Given the description of an element on the screen output the (x, y) to click on. 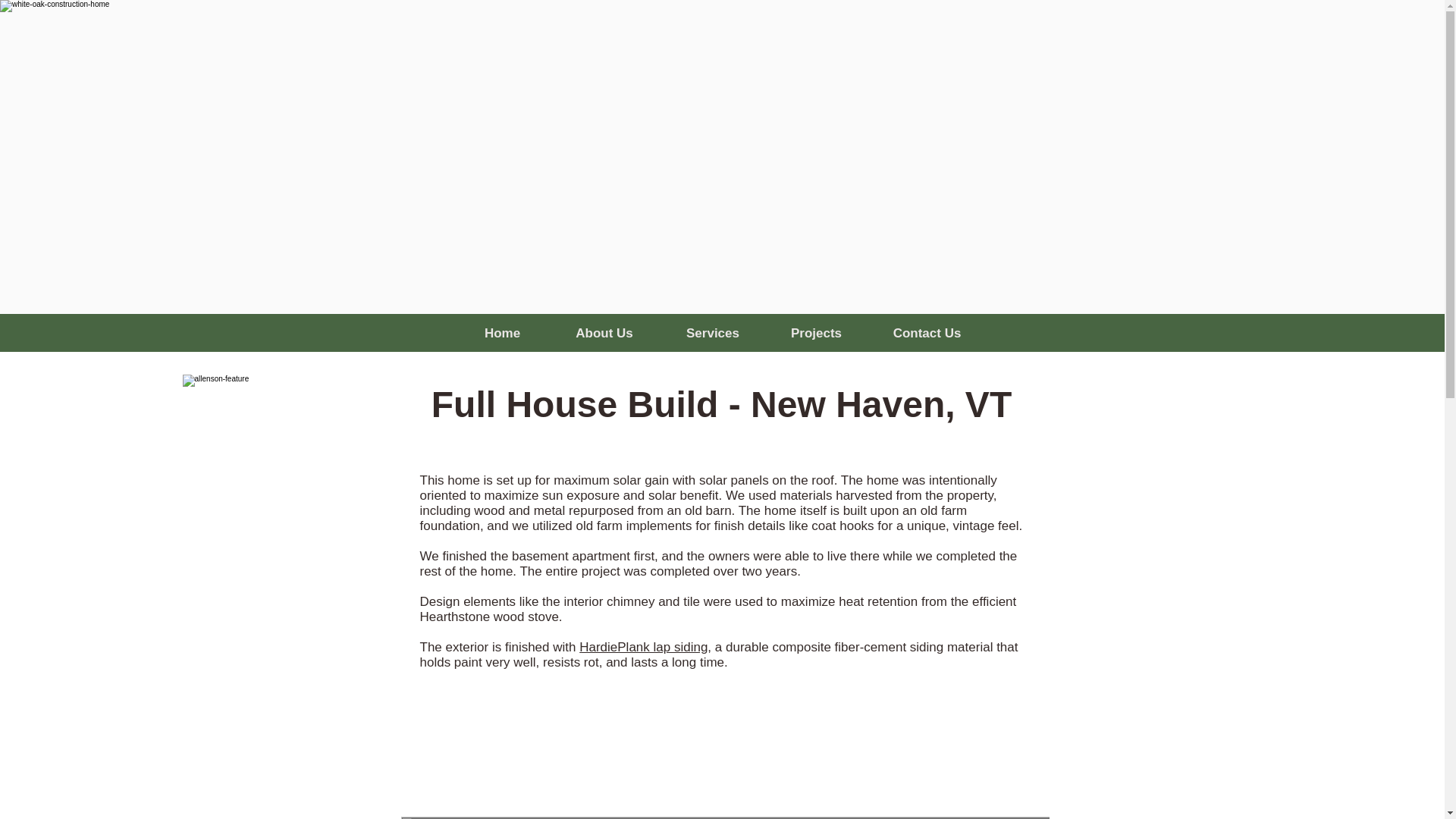
Projects (816, 333)
About Us (604, 333)
HardiePlank lap siding (643, 646)
Contact Us (927, 333)
Home (502, 333)
Services (712, 333)
